Given the description of an element on the screen output the (x, y) to click on. 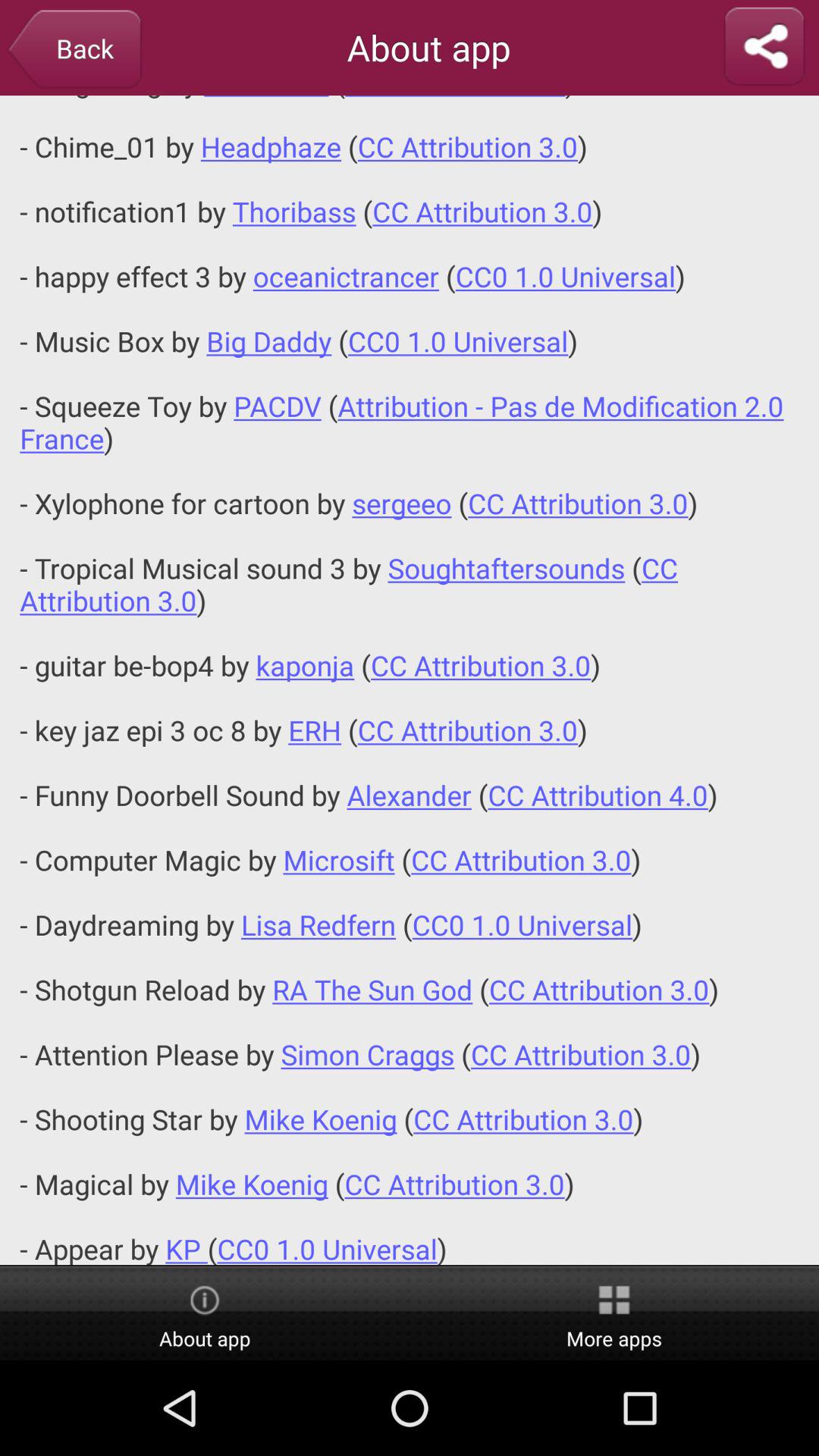
launch the app next to the about app icon (73, 50)
